Given the description of an element on the screen output the (x, y) to click on. 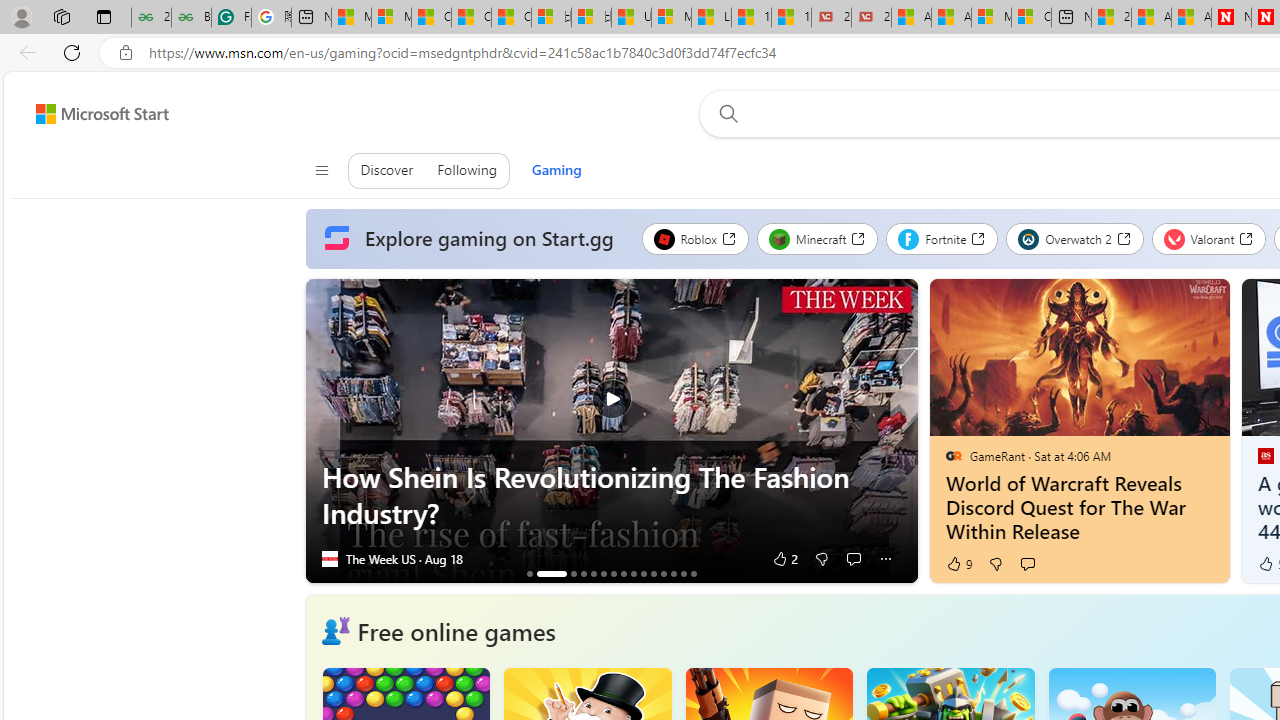
How Shein Is Revolutionizing The Fashion Industry? (610, 431)
GameRant (953, 455)
AutomationID: tab_nativead-infopane-14 (683, 573)
Previous slide (319, 431)
2 Like (784, 558)
21 Movies That Outdid the Books They Were Based On (871, 17)
Best SSL Certificates Provider in India - GeeksforGeeks (191, 17)
Class: control icon-only (320, 170)
Gaming (555, 169)
